Given the description of an element on the screen output the (x, y) to click on. 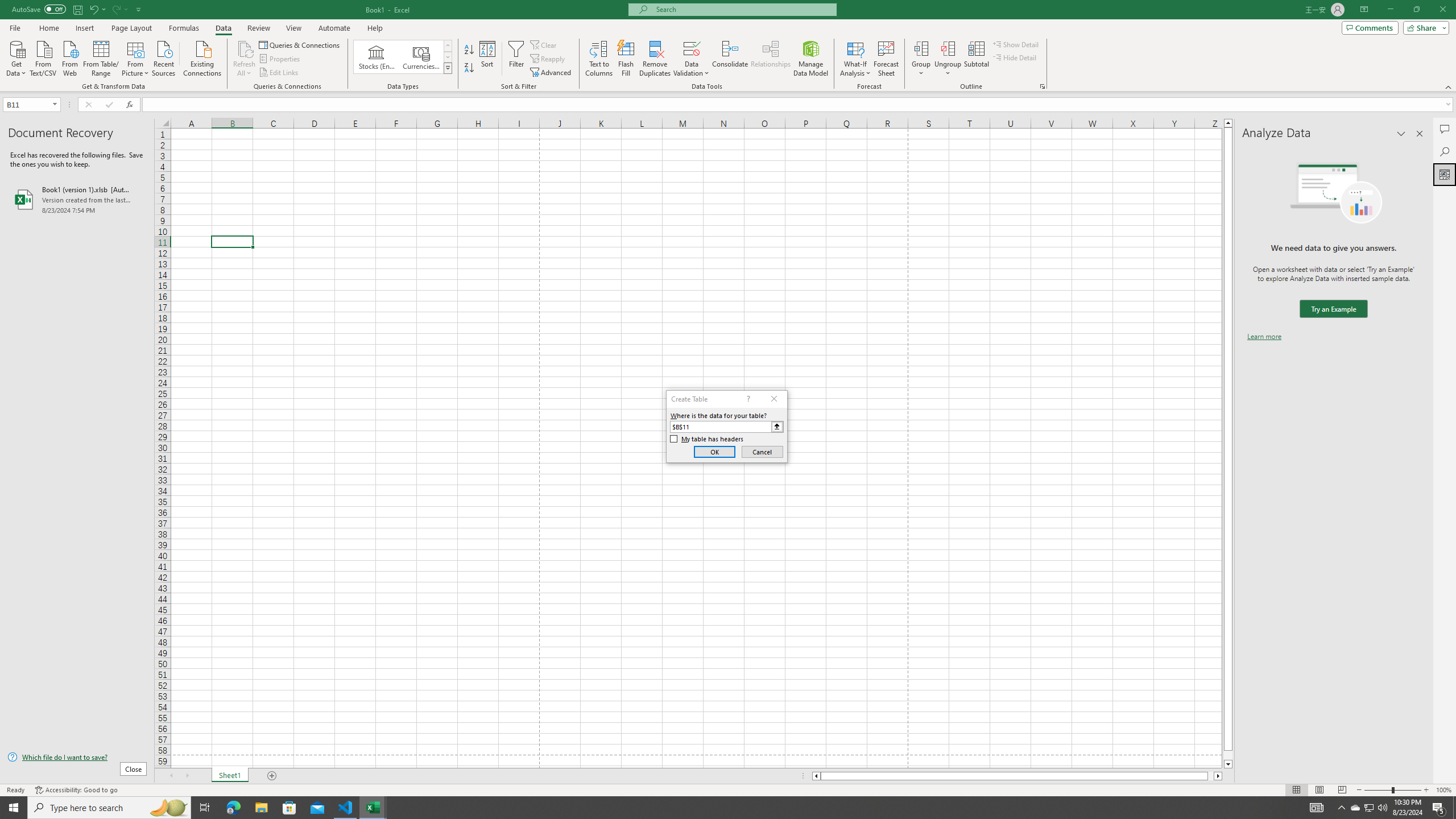
Consolidate... (729, 58)
